Given the description of an element on the screen output the (x, y) to click on. 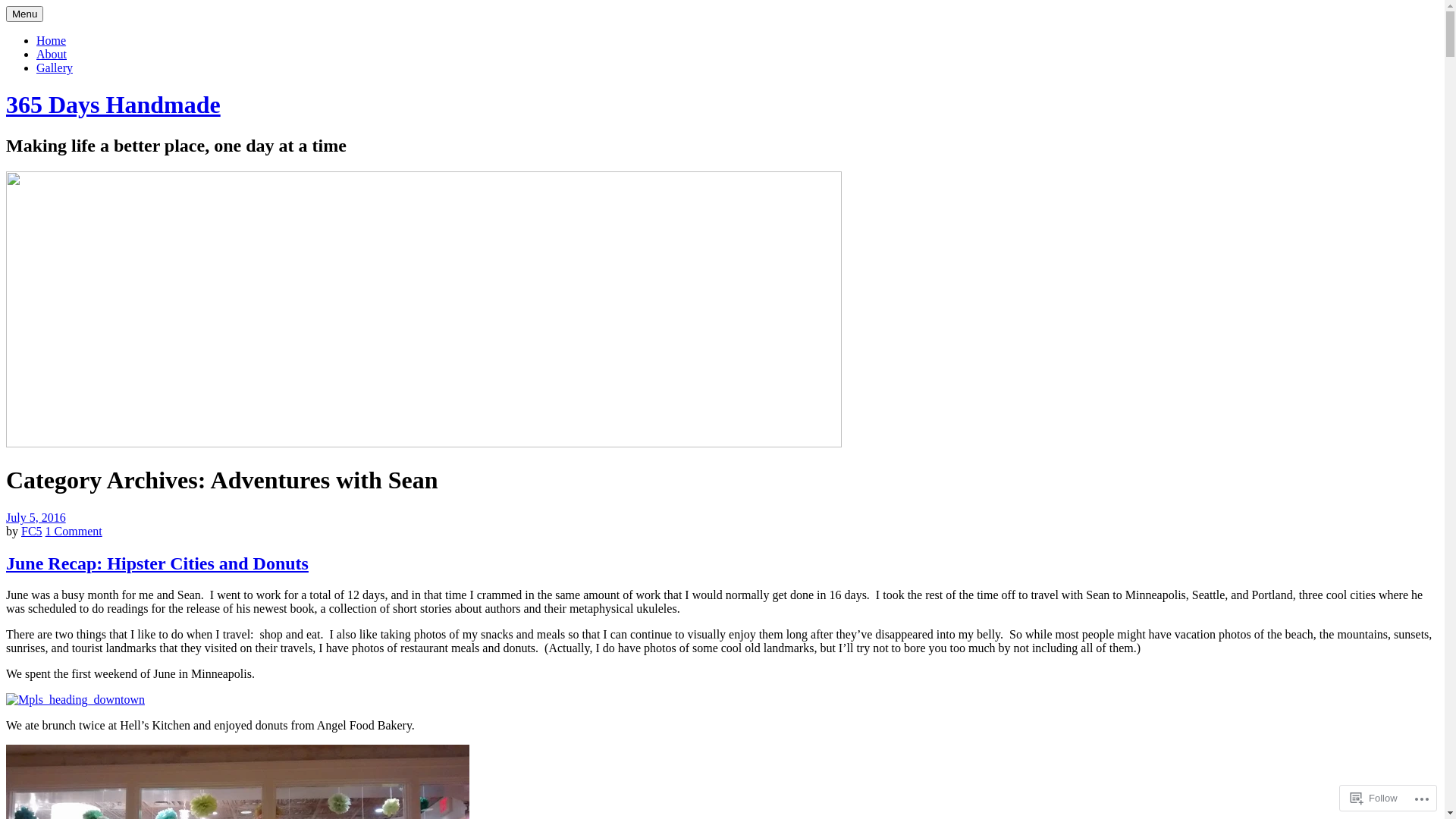
Menu Element type: text (24, 13)
1 Comment Element type: text (73, 530)
Gallery Element type: text (54, 67)
365 Days Handmade Element type: text (113, 104)
Home Element type: text (50, 40)
FC5 Element type: text (31, 530)
About Element type: text (51, 53)
July 5, 2016 Element type: text (35, 517)
June Recap: Hipster Cities and Donuts Element type: text (157, 563)
